Given the description of an element on the screen output the (x, y) to click on. 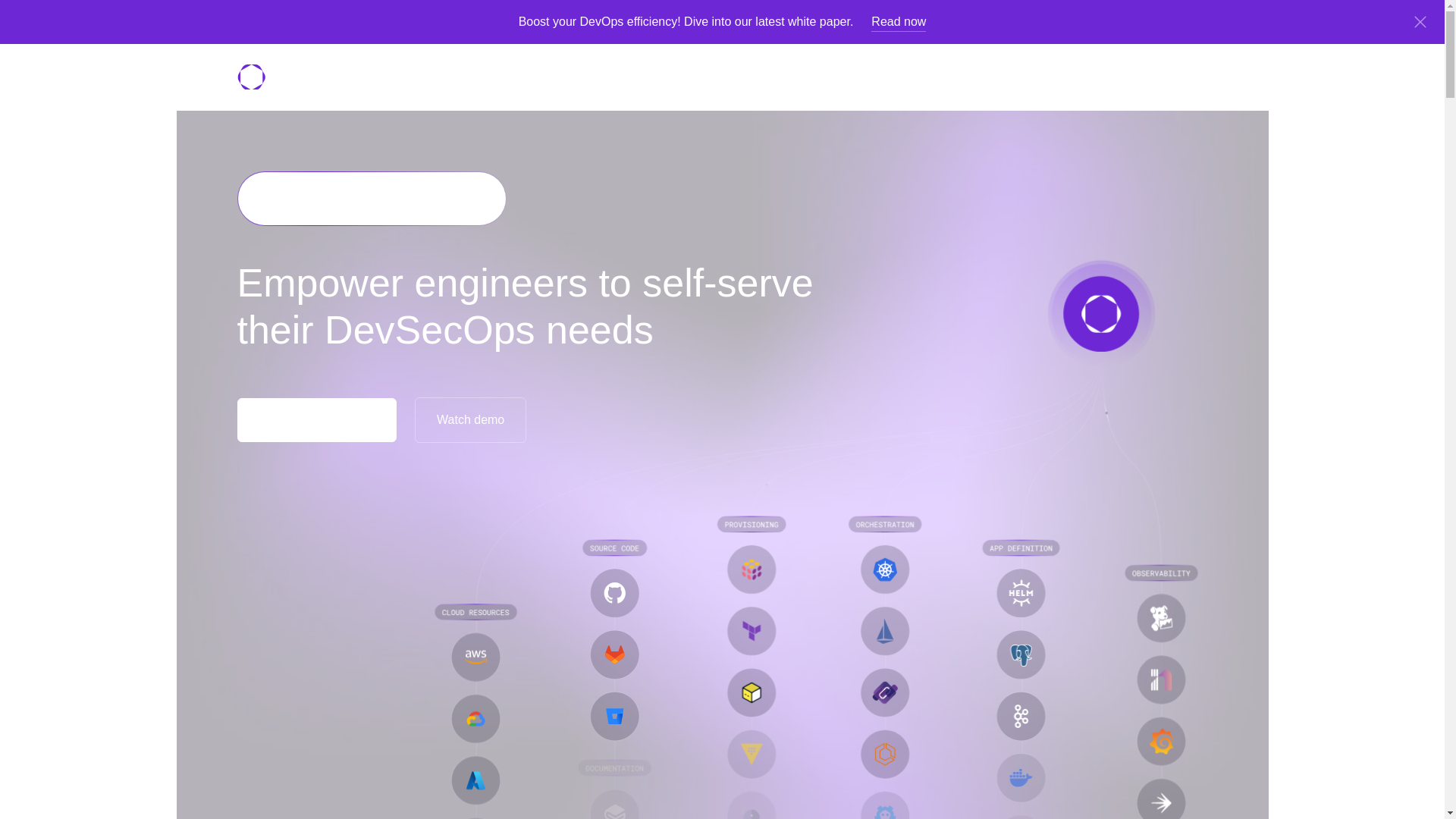
Pricing (470, 76)
Schedule a demo (1144, 76)
Watch demo (469, 420)
About (628, 76)
Blog (524, 76)
Schedule a demo (315, 420)
Docs (575, 76)
Read now (898, 21)
Login (1042, 76)
